Given the description of an element on the screen output the (x, y) to click on. 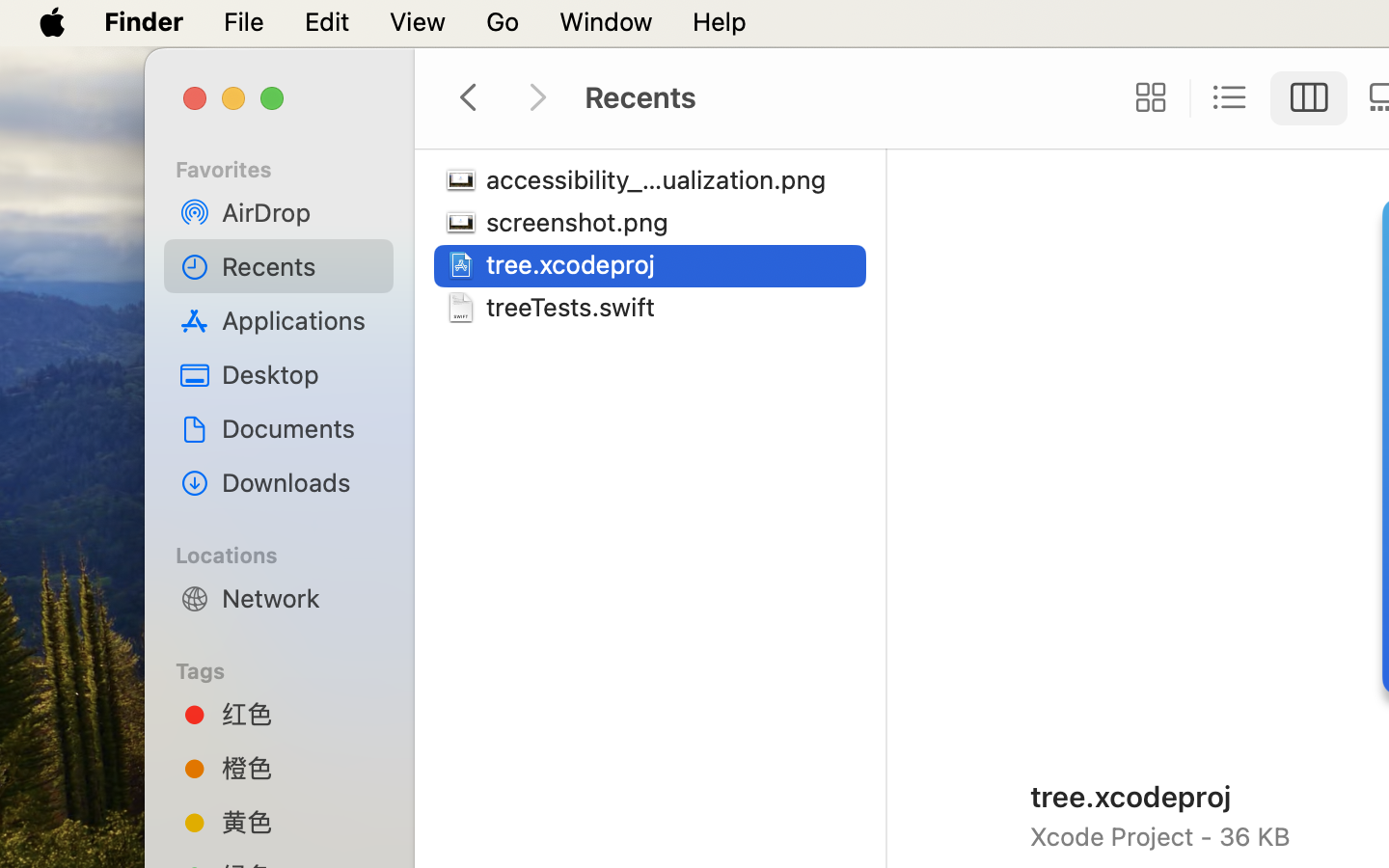
红色 Element type: AXStaticText (299, 713)
treeTests.swift Element type: AXTextField (574, 306)
Locations Element type: AXStaticText (289, 552)
0 Element type: AXRadioButton (1144, 97)
Documents Element type: AXStaticText (299, 427)
